Given the description of an element on the screen output the (x, y) to click on. 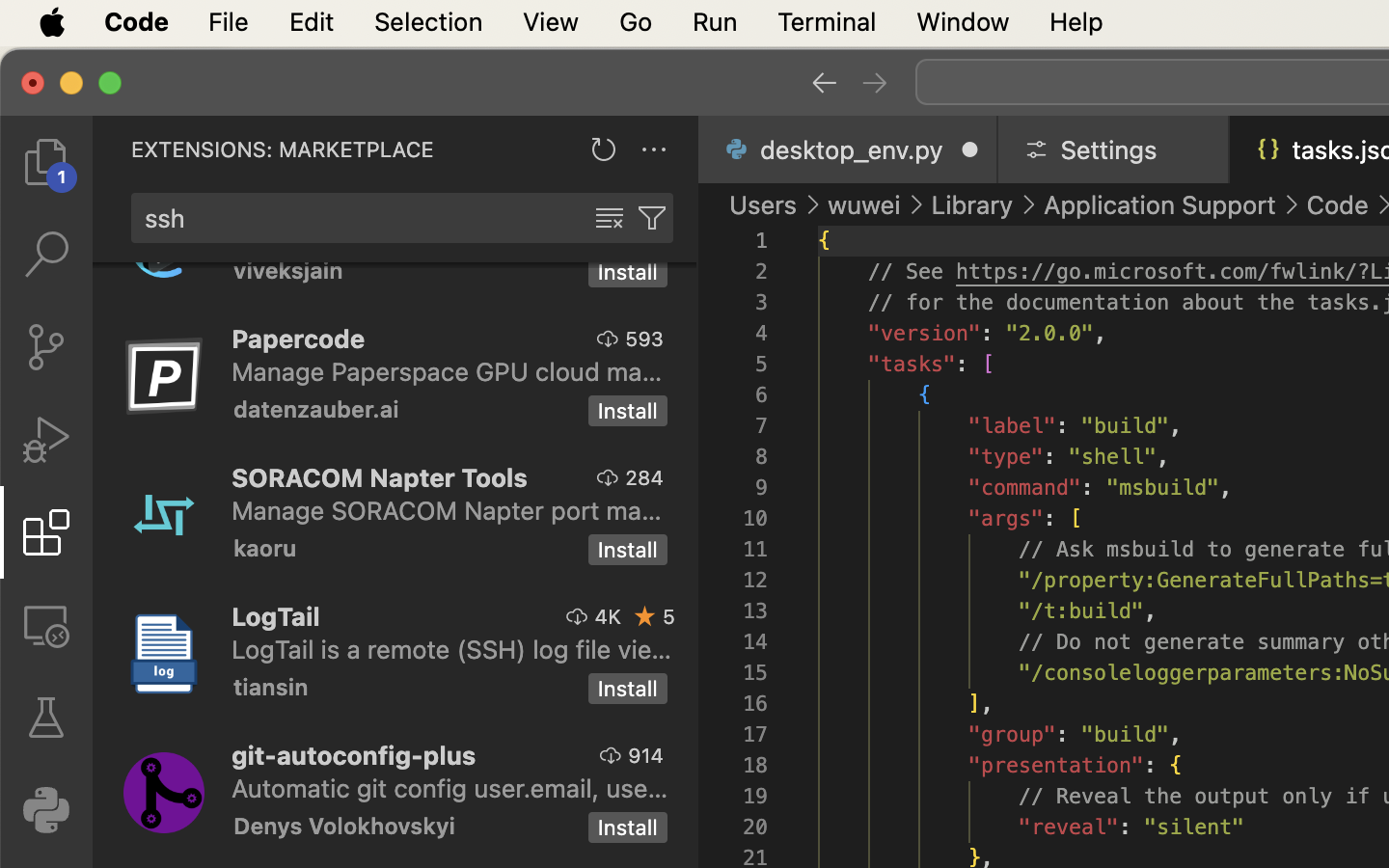
 Element type: AXStaticText (812, 204)
0  Element type: AXRadioButton (46, 439)
593 Element type: AXStaticText (644, 338)
1  Element type: AXRadioButton (46, 532)
284 Element type: AXStaticText (644, 476)
